Given the description of an element on the screen output the (x, y) to click on. 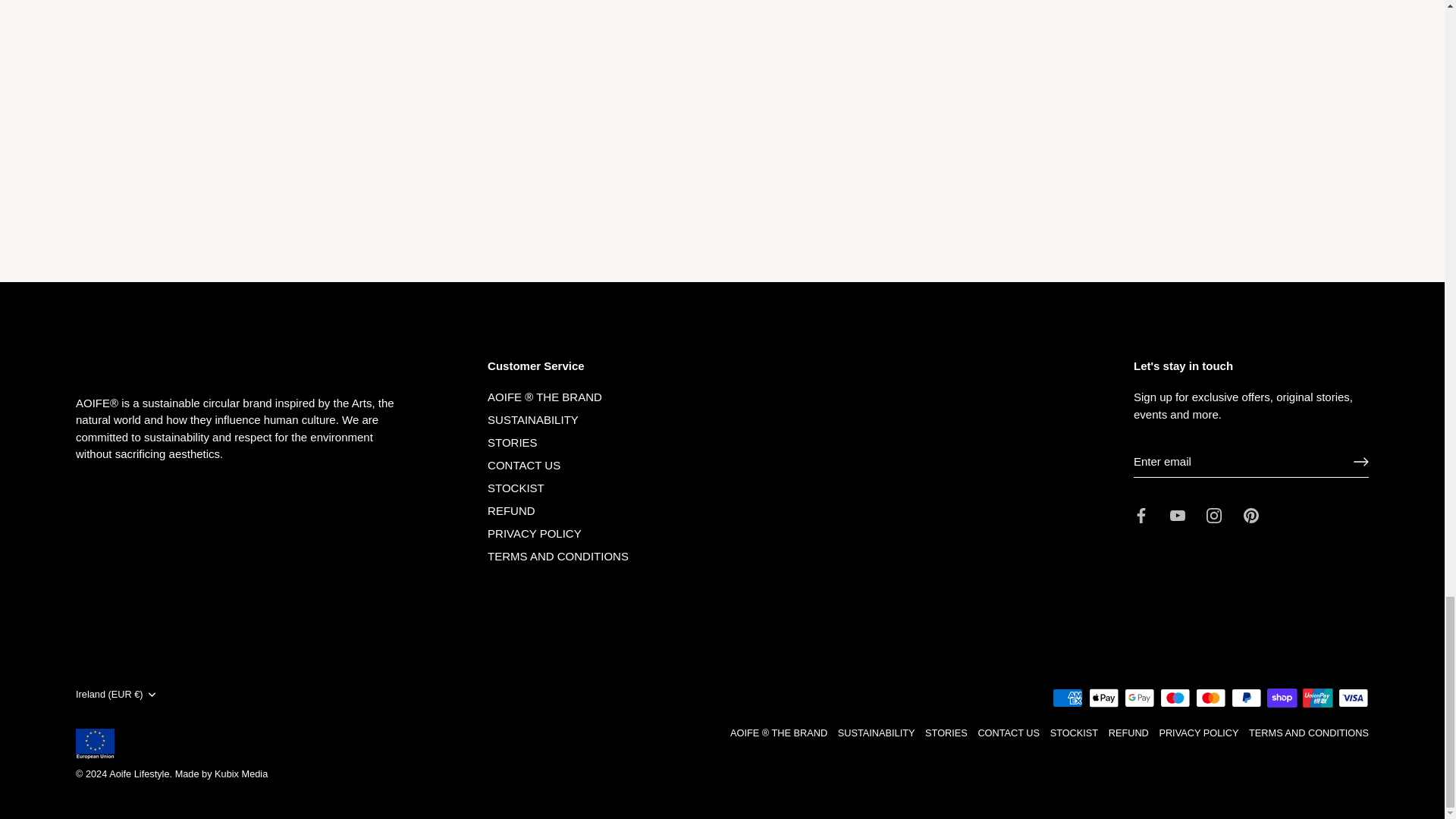
Right arrow long (1361, 461)
Apple Pay (1104, 697)
Instagram (1214, 515)
Mastercard (1210, 697)
Visa (1353, 697)
PayPal (1245, 697)
Maestro (1174, 697)
Youtube (1177, 515)
Google Pay (1139, 697)
American Express (1067, 697)
Shop Pay (1281, 697)
Pinterest (1251, 515)
Union Pay (1317, 697)
